Given the description of an element on the screen output the (x, y) to click on. 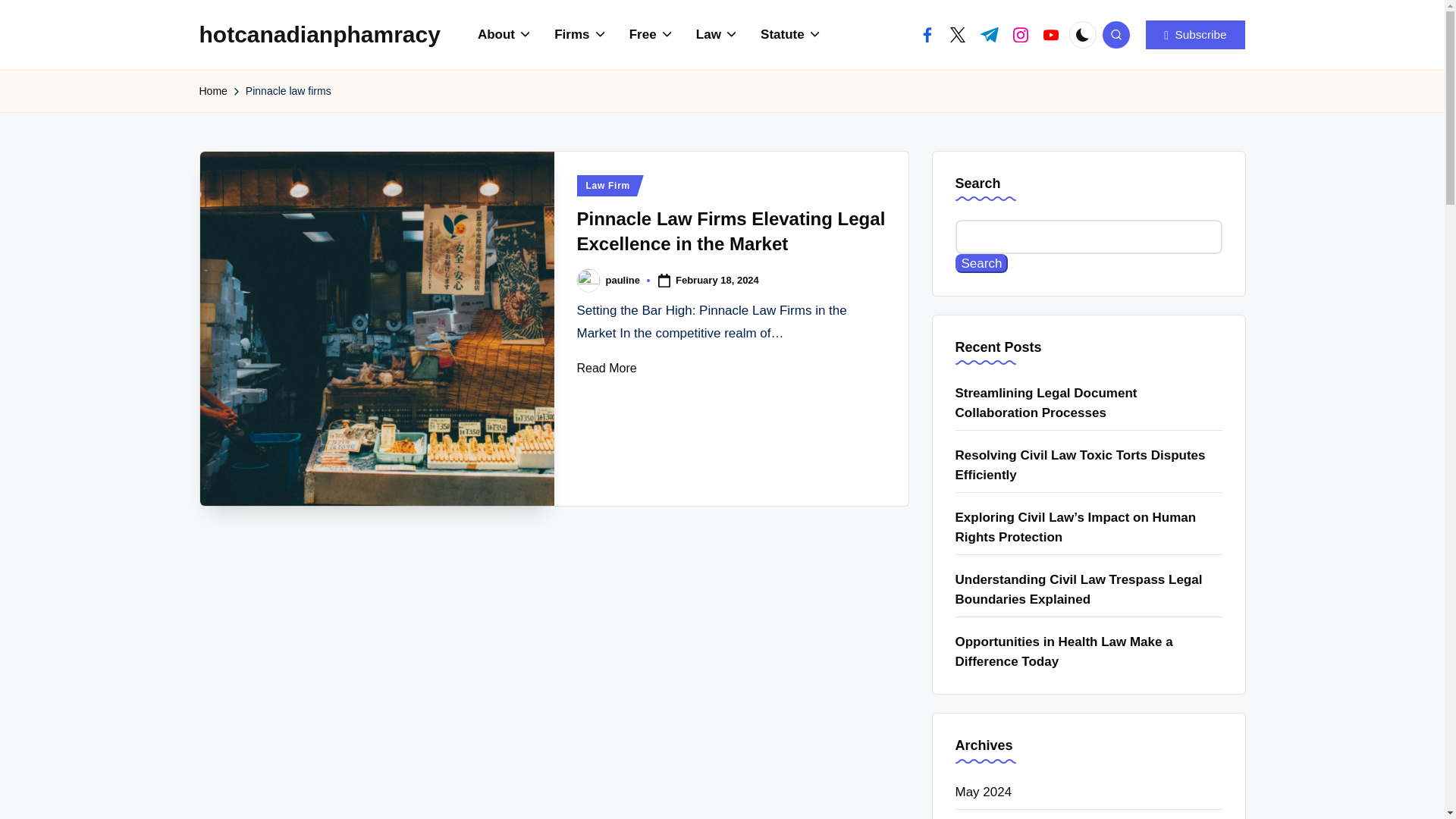
About (505, 34)
Pinnacle Law Firms Elevating Legal Excellence in the Market (730, 231)
View all posts by pauline (622, 279)
Pinnacle Law Firms Elevating Legal Excellence in the Market (377, 328)
hotcanadianphamracy (318, 34)
